Given the description of an element on the screen output the (x, y) to click on. 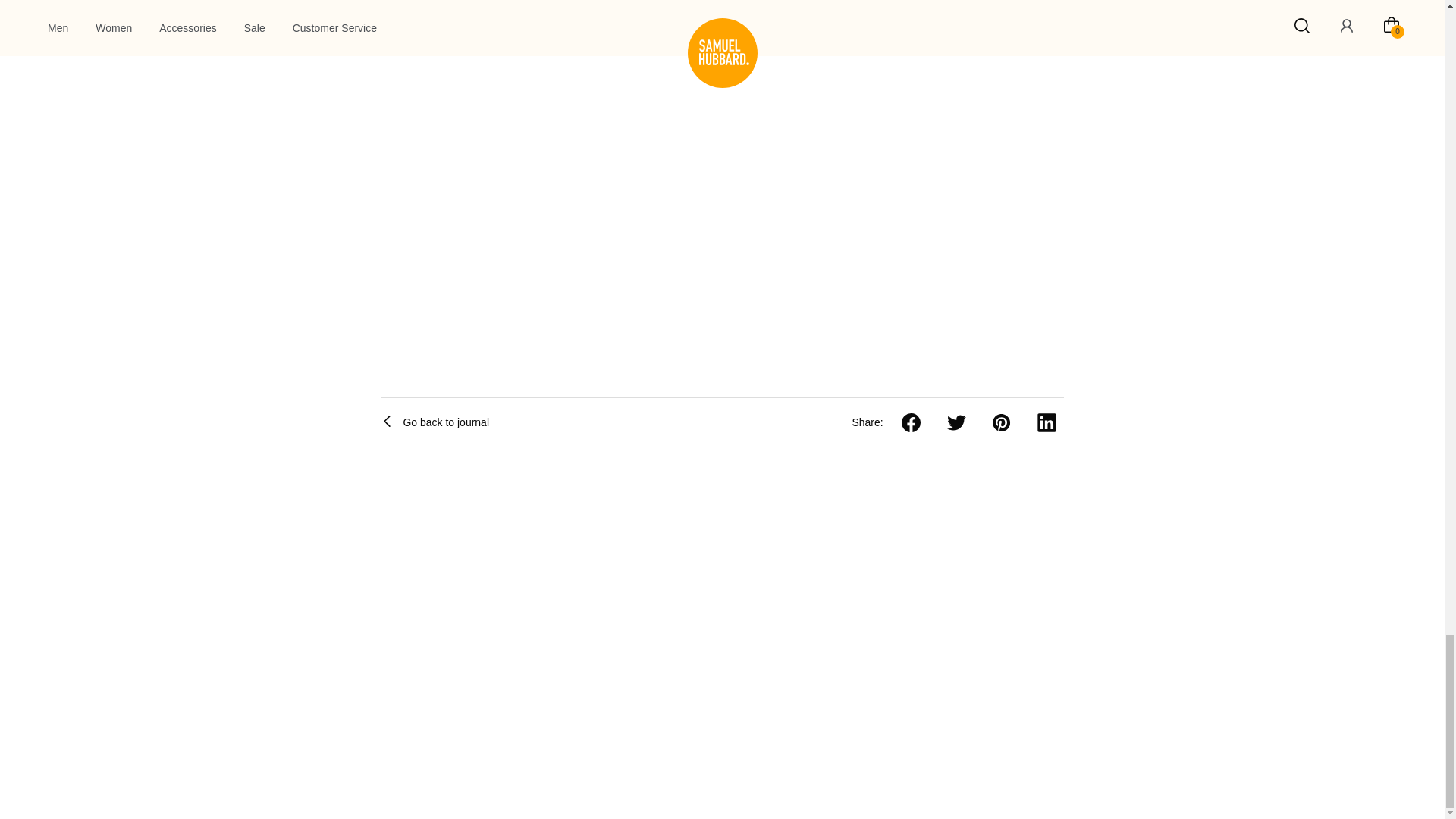
Share on Pinterest (1004, 422)
Share on Twitter (960, 422)
Share on Linkedin (1050, 422)
Share on Facebook (914, 422)
